Given the description of an element on the screen output the (x, y) to click on. 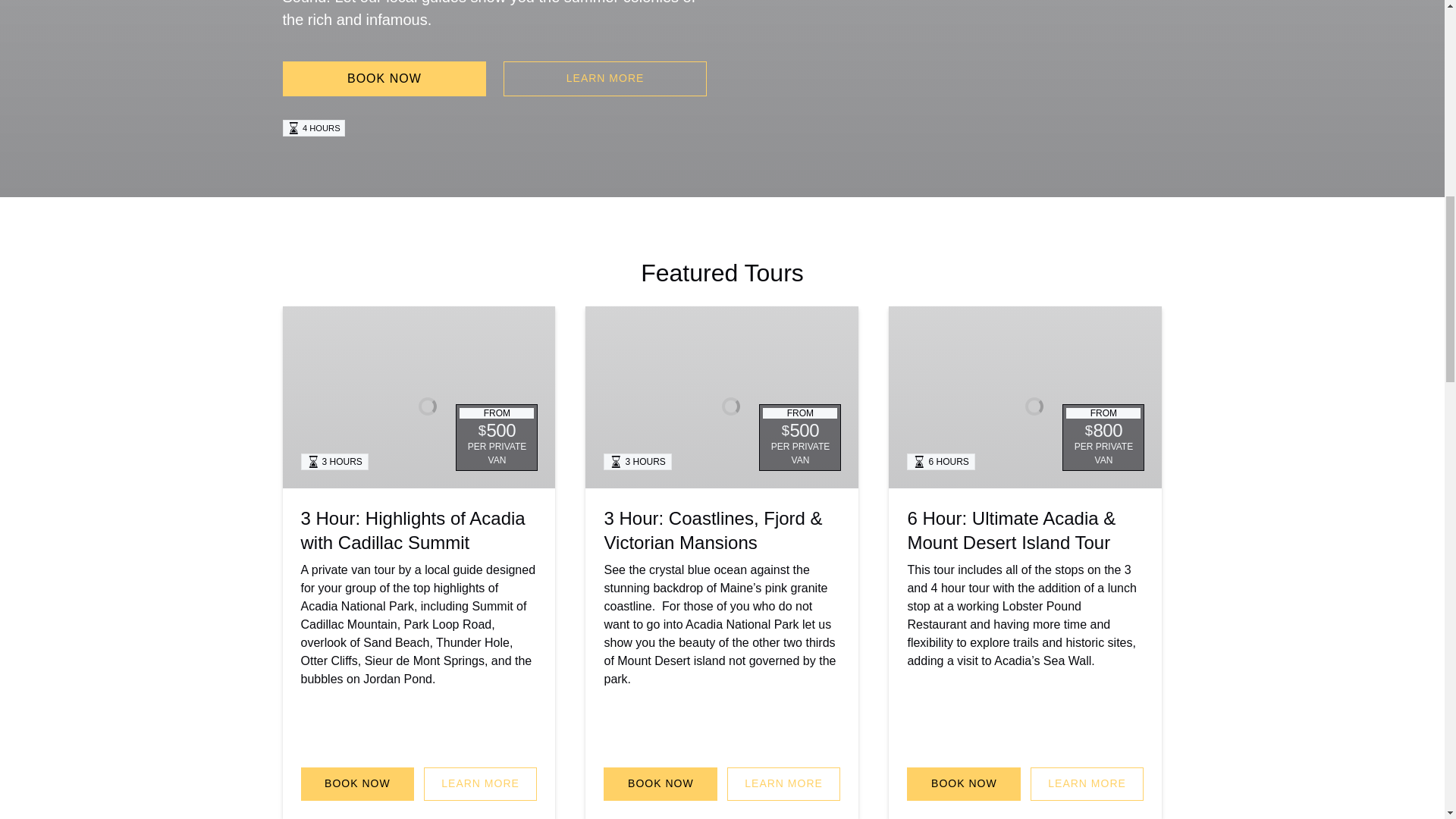
3 Hour: Highlights of Acadia with Cadillac Summit (411, 529)
activity link (722, 397)
activity link (418, 397)
activity link (1024, 397)
BOOK NOW (356, 783)
LEARN MORE (480, 783)
FareHarbor (1342, 64)
BOOK NOW (384, 78)
LEARN MORE (605, 78)
